Given the description of an element on the screen output the (x, y) to click on. 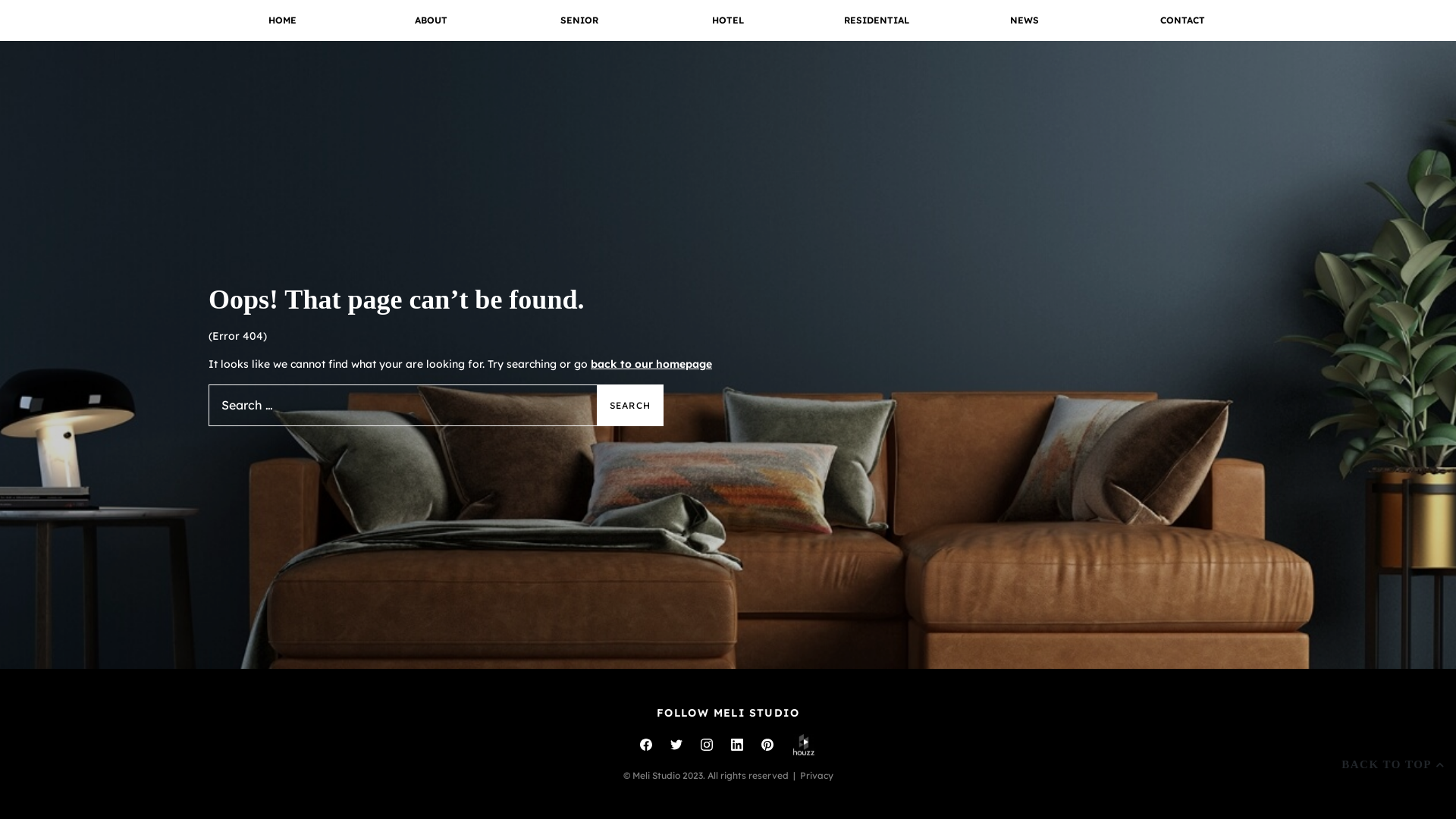
Privacy Element type: text (815, 775)
HOME Element type: text (282, 20)
NEWS Element type: text (1024, 20)
CONTACT Element type: text (1172, 20)
RESIDENTIAL Element type: text (876, 20)
back to our homepage Element type: text (651, 363)
HOTEL Element type: text (727, 20)
ABOUT Element type: text (431, 20)
Search Element type: text (629, 405)
SENIOR Element type: text (579, 20)
BACK TO TOP Element type: text (1386, 764)
